Given the description of an element on the screen output the (x, y) to click on. 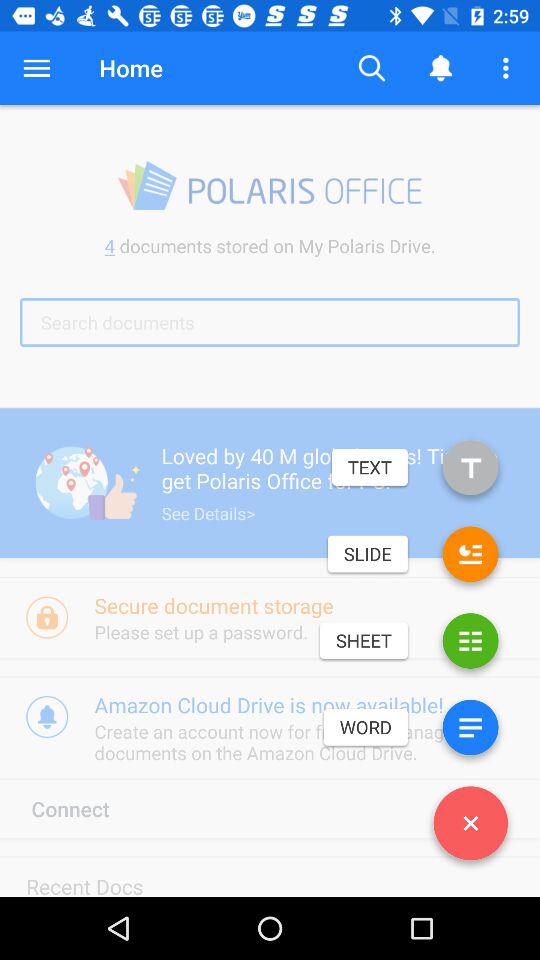
open sheet app (470, 644)
